Given the description of an element on the screen output the (x, y) to click on. 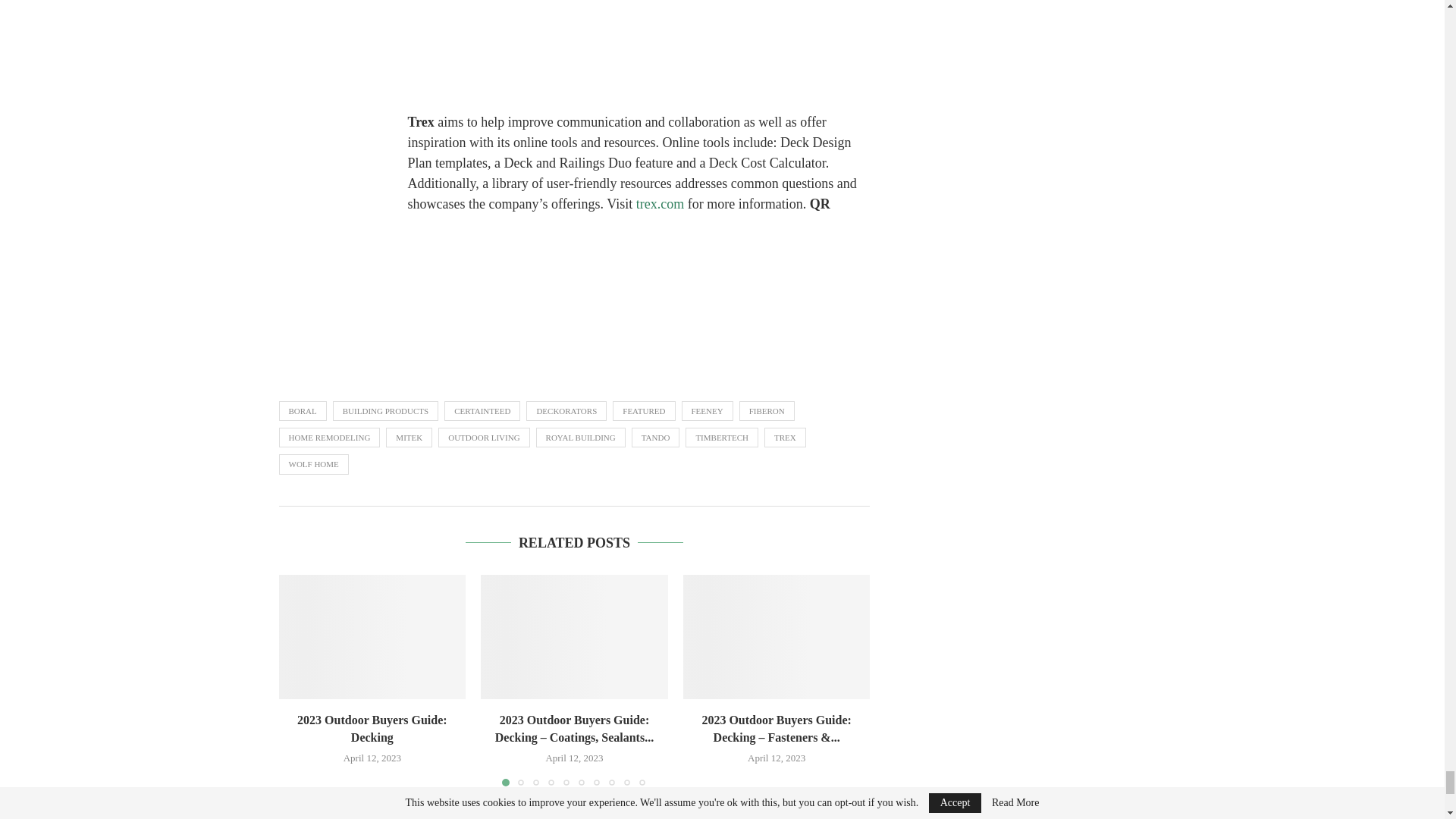
2023 Outdoor Buyers Guide: Decking (372, 636)
